Given the description of an element on the screen output the (x, y) to click on. 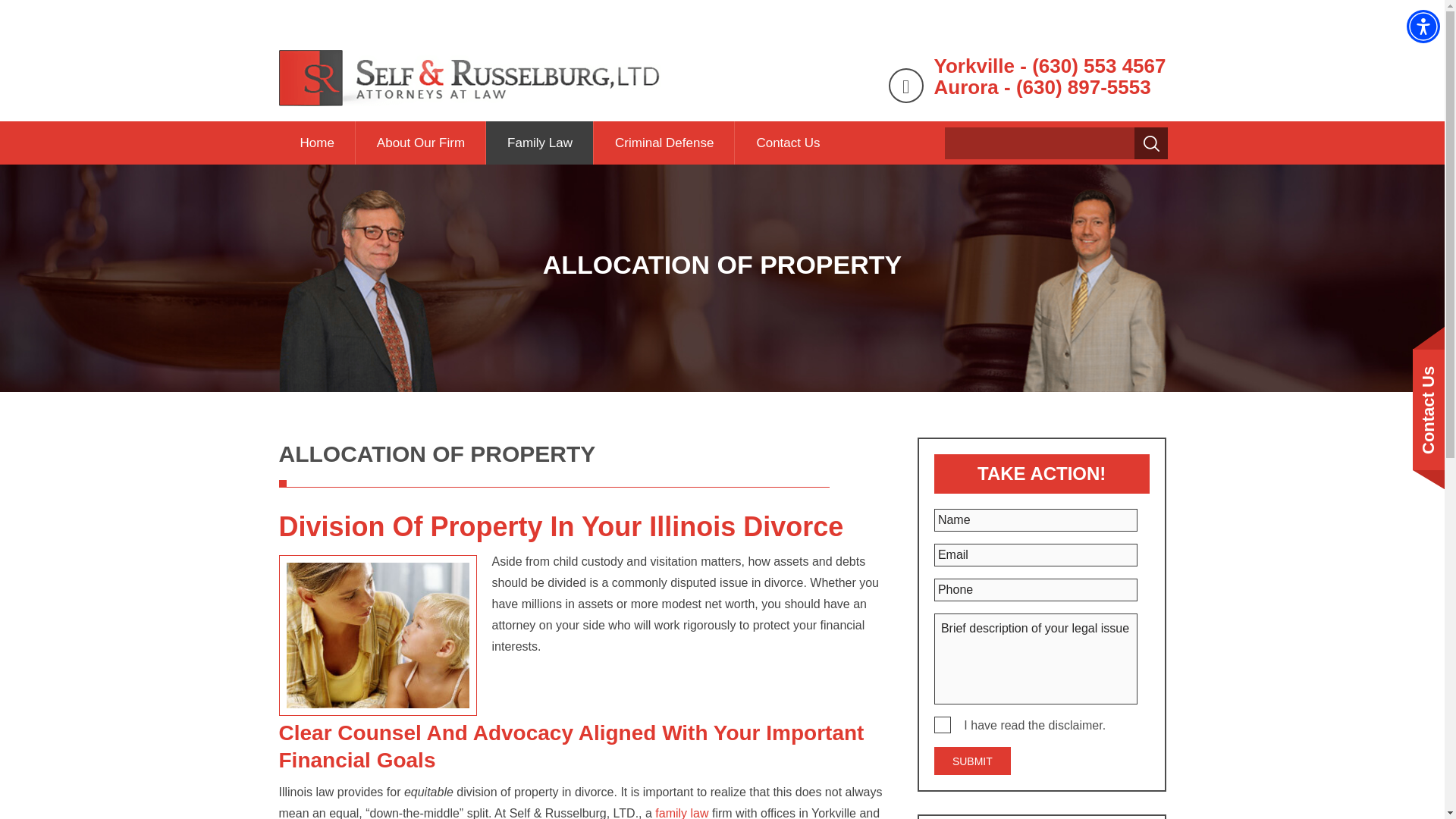
family law (681, 812)
Criminal Defense (664, 142)
Accessibility Menu (1422, 26)
Allocation Of Property (567, 179)
Submit (972, 760)
Search (1152, 142)
About Our Firm (420, 142)
Home (317, 142)
Family Law (681, 812)
Family Law (540, 142)
Contact Us (788, 142)
Submit (972, 760)
Search (1152, 142)
